Given the description of an element on the screen output the (x, y) to click on. 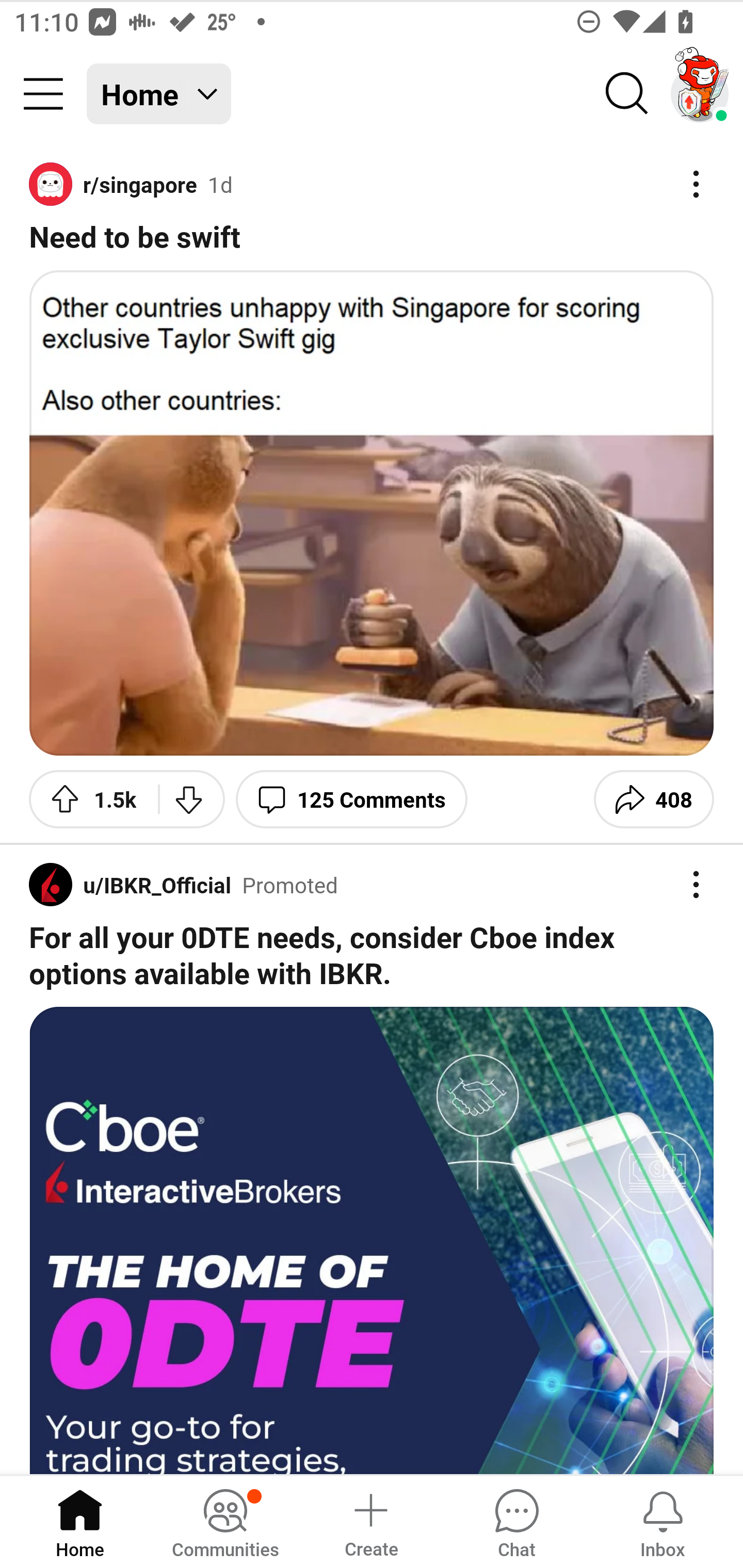
Community menu (43, 93)
Home Home feed (158, 93)
Search (626, 93)
TestAppium002 account (699, 93)
Home (80, 1520)
Communities, has notifications Communities (225, 1520)
Create a post Create (370, 1520)
Chat (516, 1520)
Inbox (662, 1520)
